Given the description of an element on the screen output the (x, y) to click on. 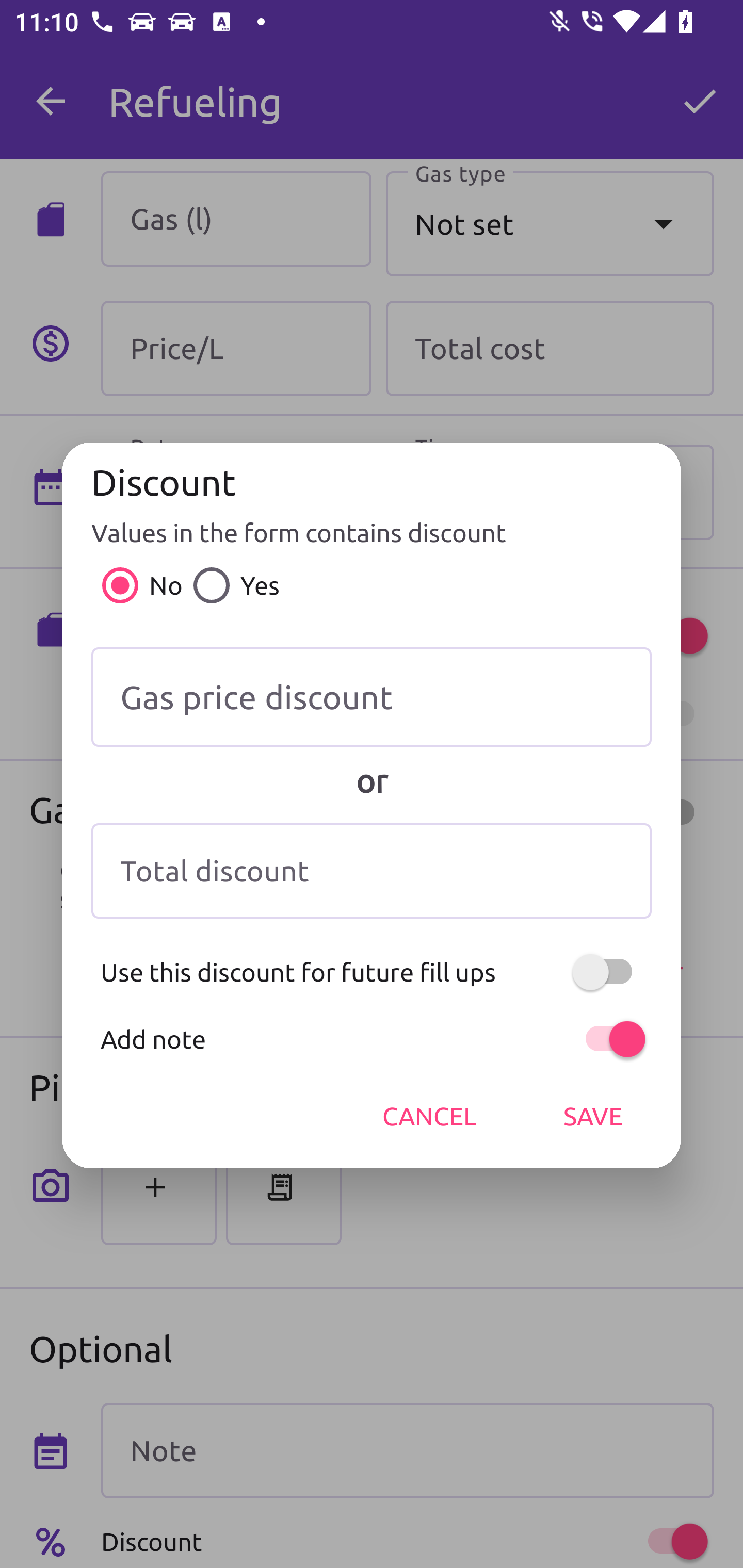
No (136, 584)
Yes (230, 584)
Gas price discount (371, 696)
Total discount (371, 870)
Use this discount for future fill ups (371, 972)
Add note (371, 1038)
CANCEL (429, 1116)
SAVE (593, 1116)
